Given the description of an element on the screen output the (x, y) to click on. 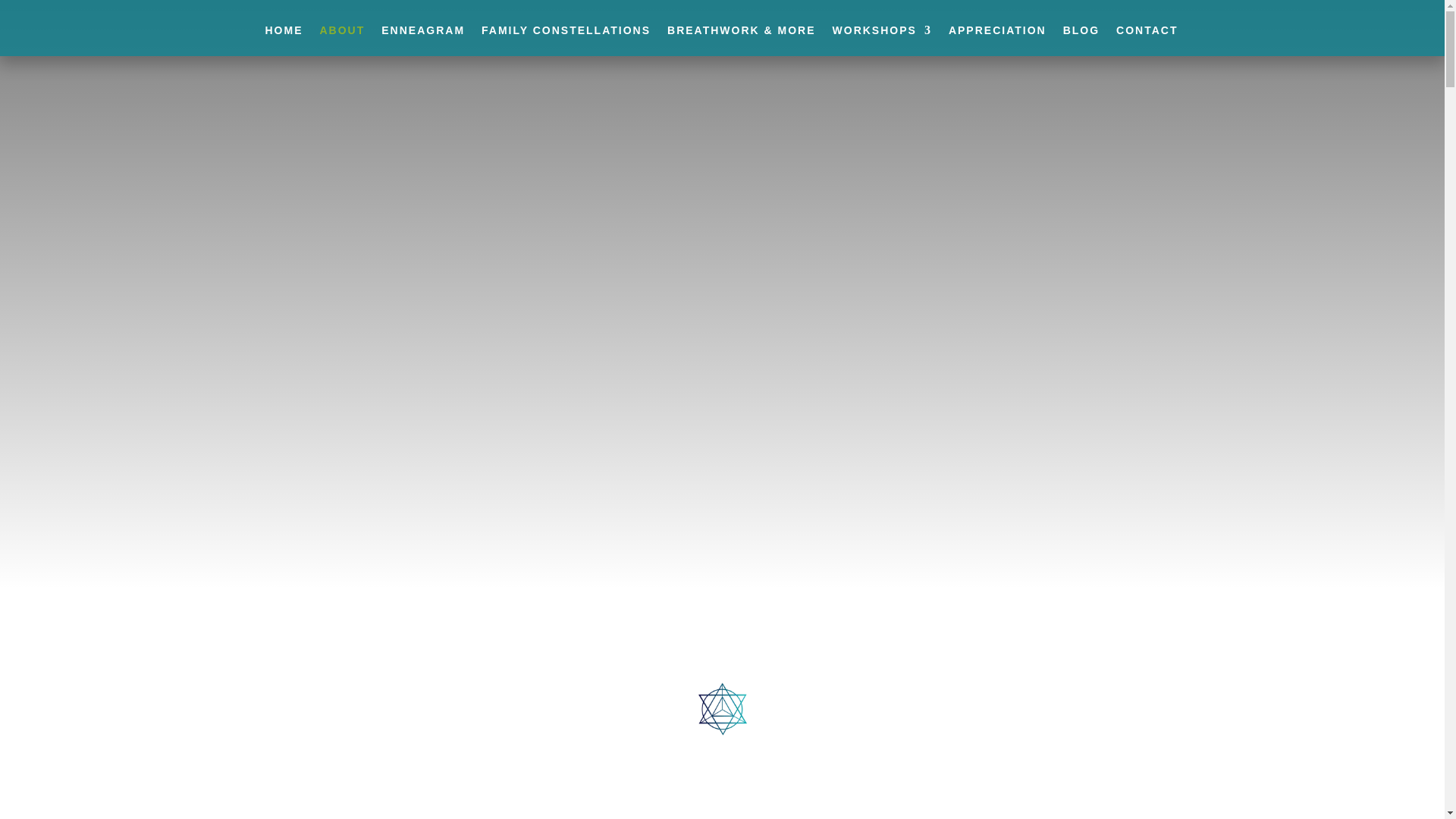
ENNEAGRAM (422, 40)
BLOG (1080, 40)
CONTACT (1146, 40)
FAMILY CONSTELLATIONS (565, 40)
HOME (283, 40)
APPRECIATION (997, 40)
WORKSHOPS (881, 40)
ABOUT (341, 40)
